Given the description of an element on the screen output the (x, y) to click on. 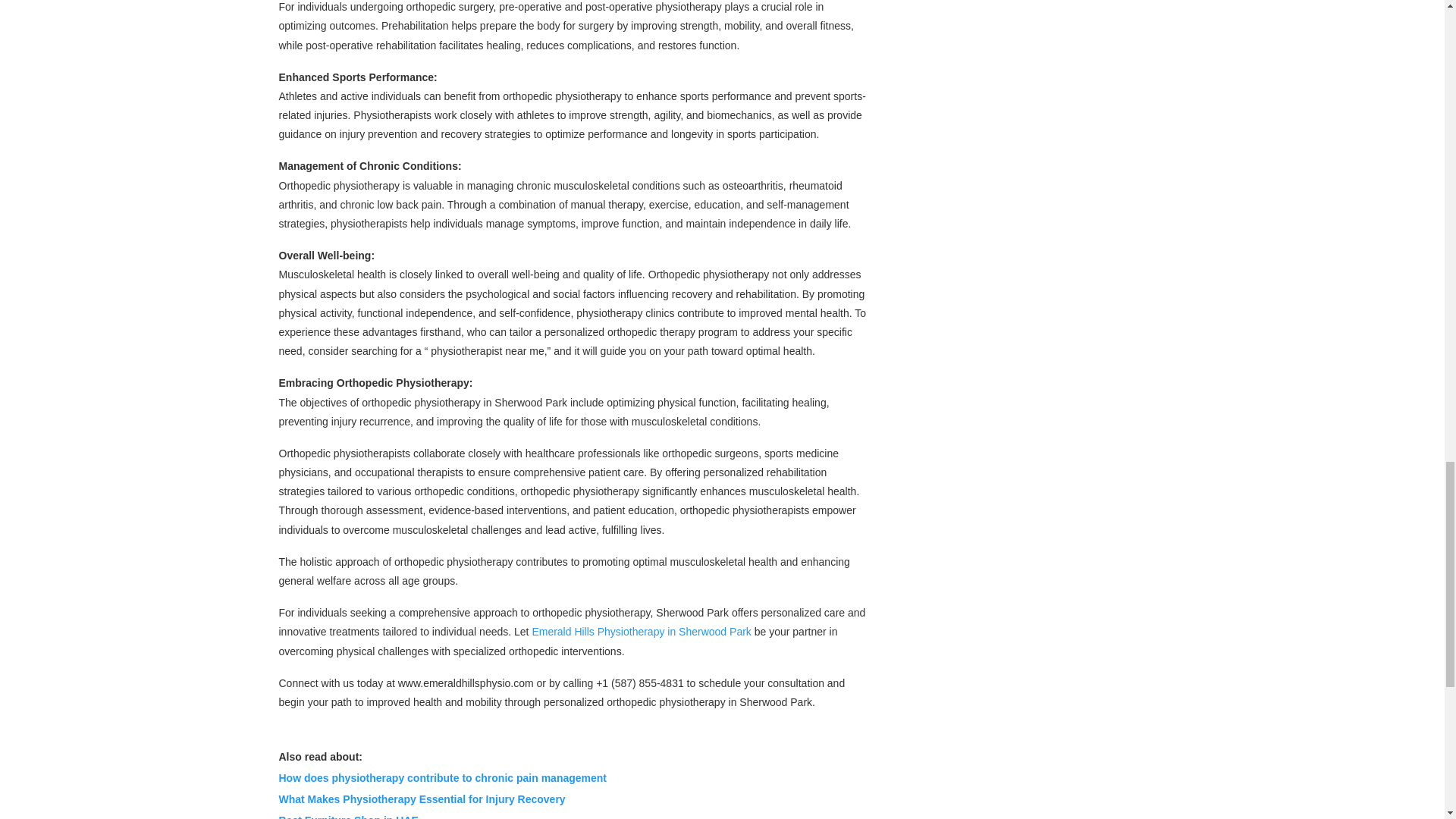
What Makes Physiotherapy Essential for Injury Recovery (422, 799)
Best Furniture Shop in UAE (349, 816)
How does physiotherapy contribute to chronic pain management (443, 777)
